Given the description of an element on the screen output the (x, y) to click on. 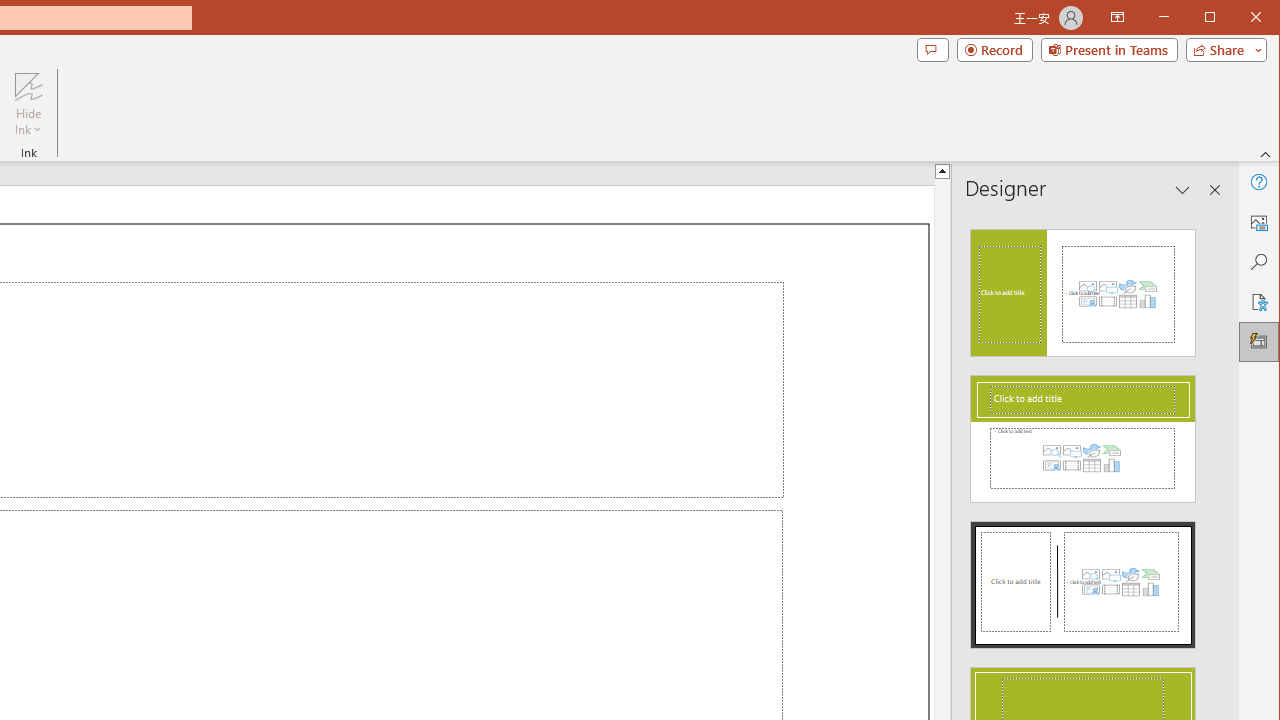
Recommended Design: Design Idea (1082, 286)
Design Idea (1082, 579)
